Given the description of an element on the screen output the (x, y) to click on. 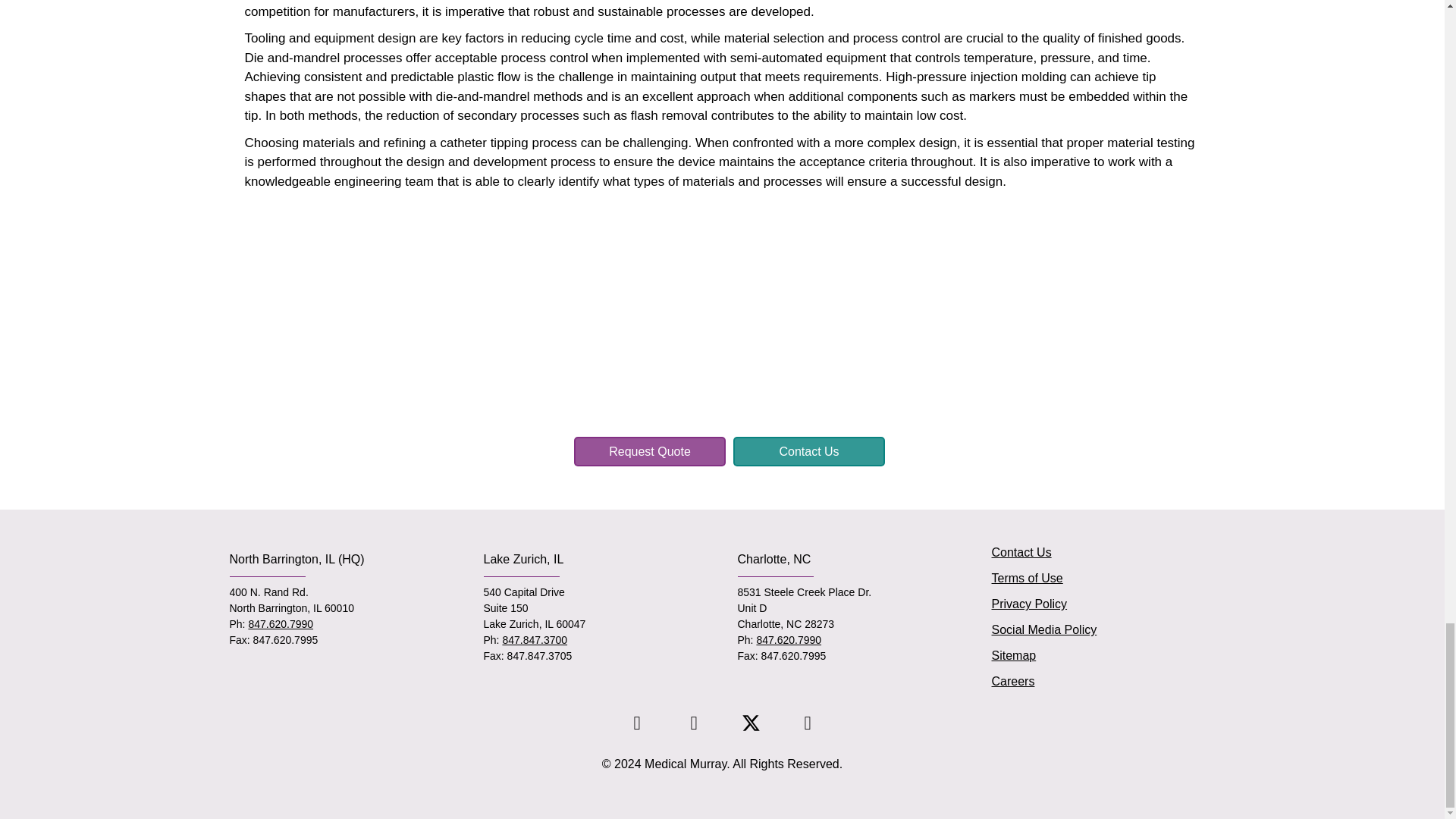
Facebook (693, 722)
LinkedIn (636, 722)
YouTube (806, 722)
